Given the description of an element on the screen output the (x, y) to click on. 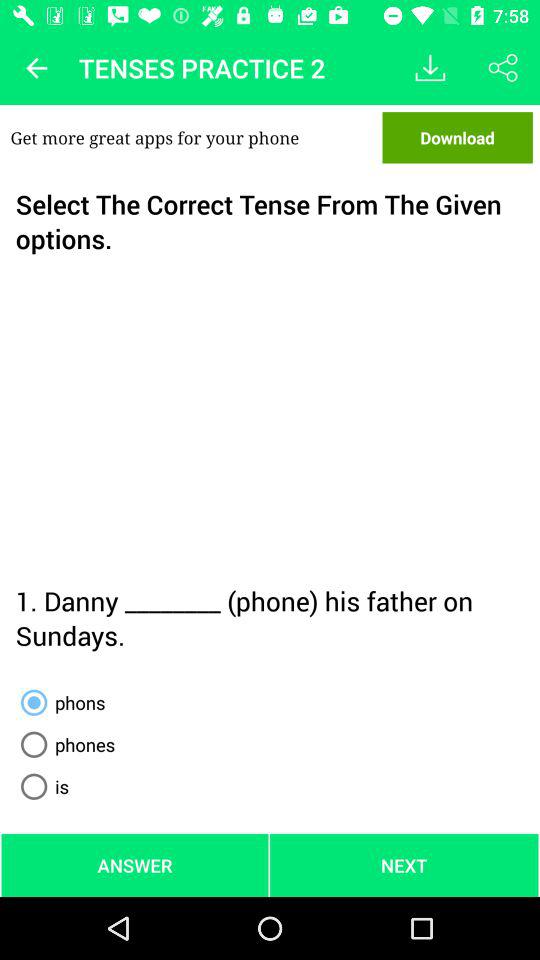
back page (36, 68)
